Given the description of an element on the screen output the (x, y) to click on. 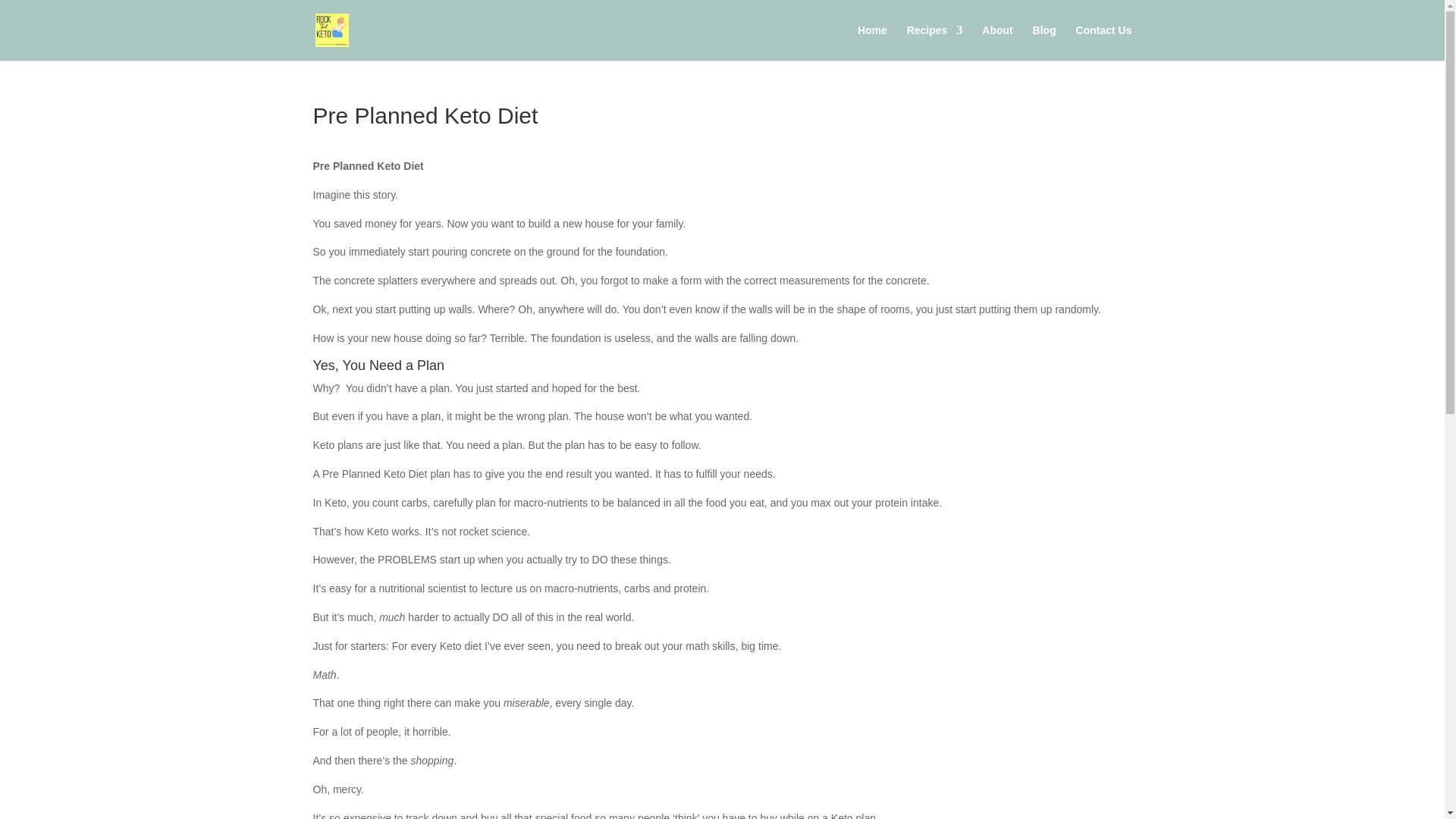
Recipes (934, 42)
Contact Us (1103, 42)
